Given the description of an element on the screen output the (x, y) to click on. 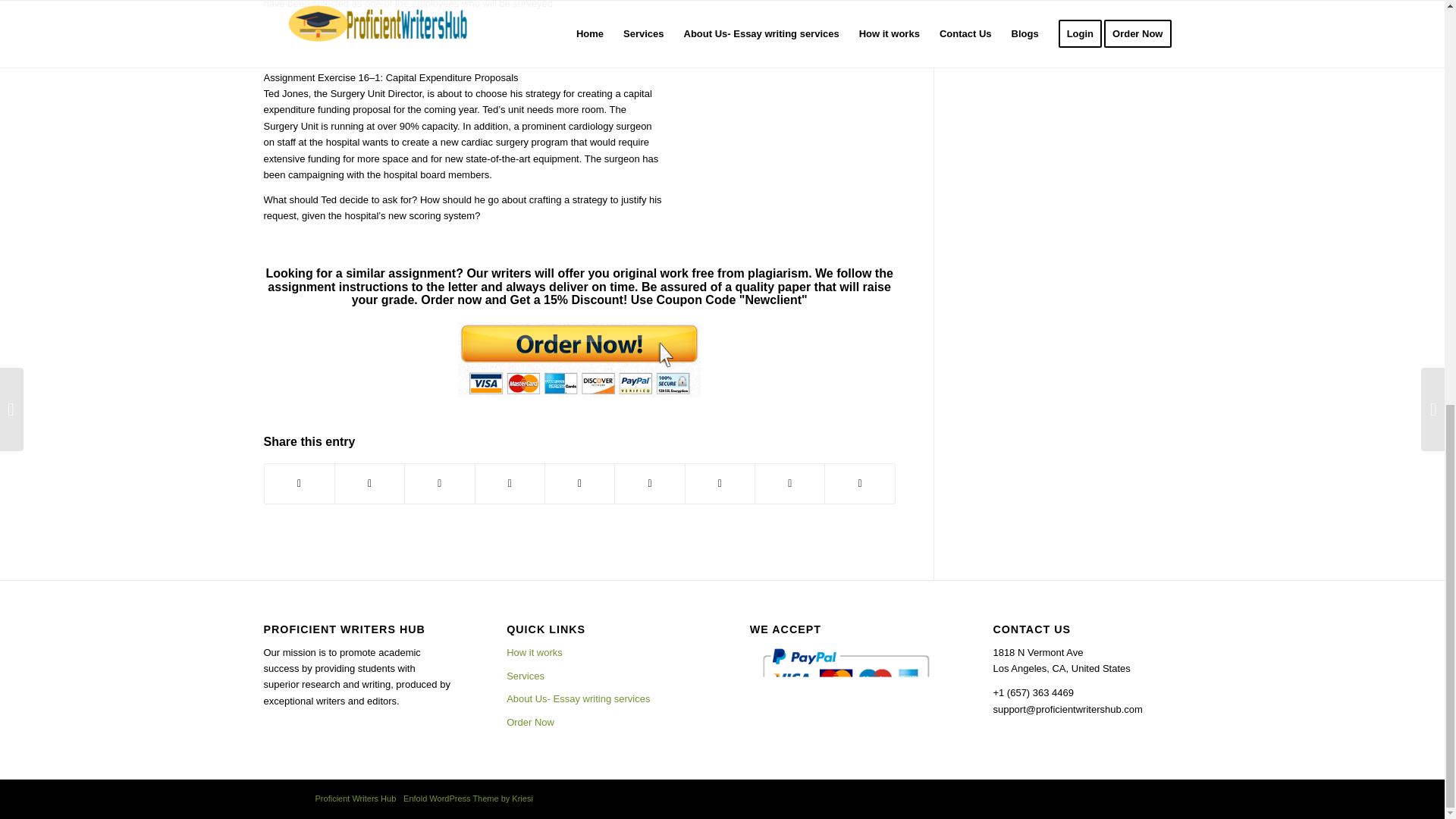
Enfold WordPress Theme by Kriesi (467, 798)
Order Now (600, 722)
How it works (600, 652)
Services (600, 676)
About Us- Essay writing services (600, 698)
Proficient Writers Hub (355, 798)
